Given the description of an element on the screen output the (x, y) to click on. 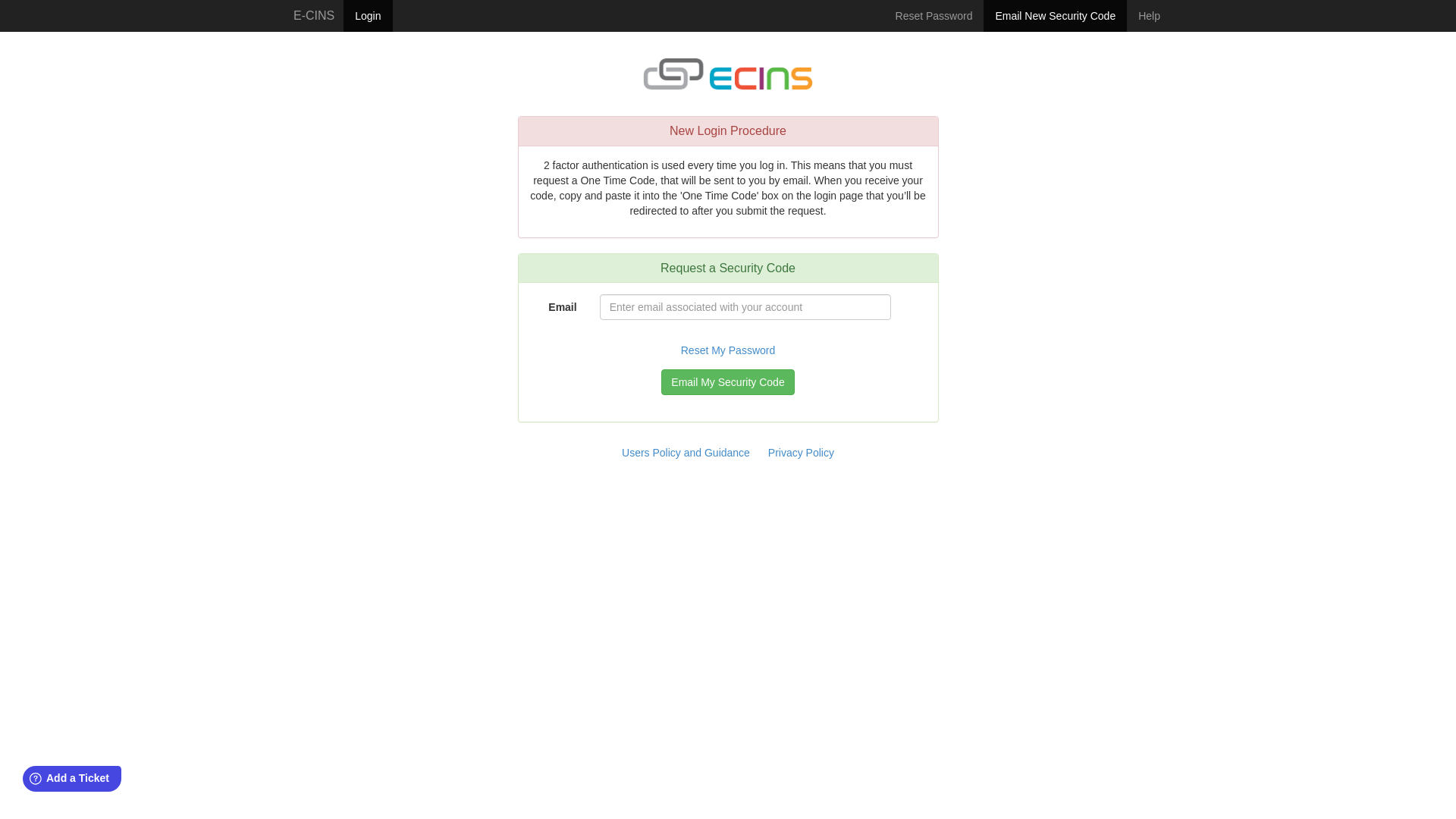
Email New Security Code Element type: text (1054, 15)
E-CINS Element type: text (313, 15)
Login Element type: text (367, 15)
Help Element type: text (1148, 15)
Reset My Password Element type: text (727, 349)
Reset Password Element type: text (934, 15)
Email My Security Code Element type: text (727, 382)
Users Policy and Guidance Element type: text (687, 452)
Privacy Policy Element type: text (800, 452)
